Given the description of an element on the screen output the (x, y) to click on. 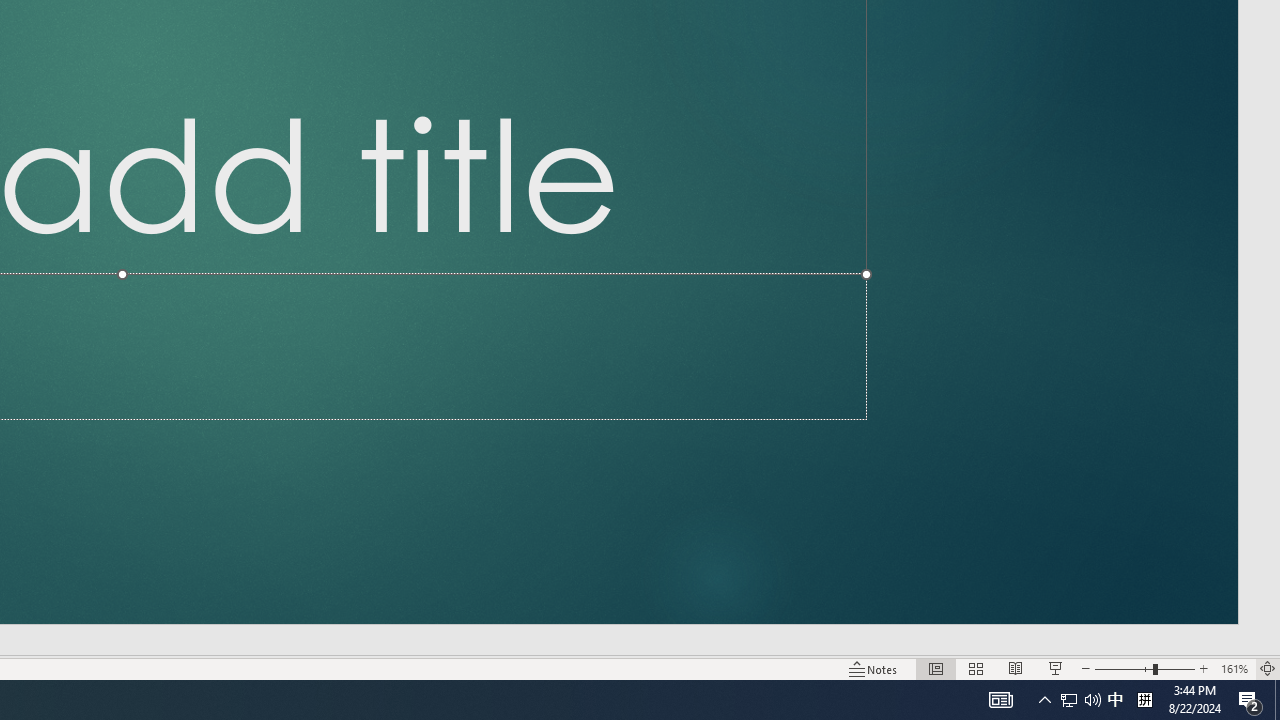
Zoom 161% (1234, 668)
